Given the description of an element on the screen output the (x, y) to click on. 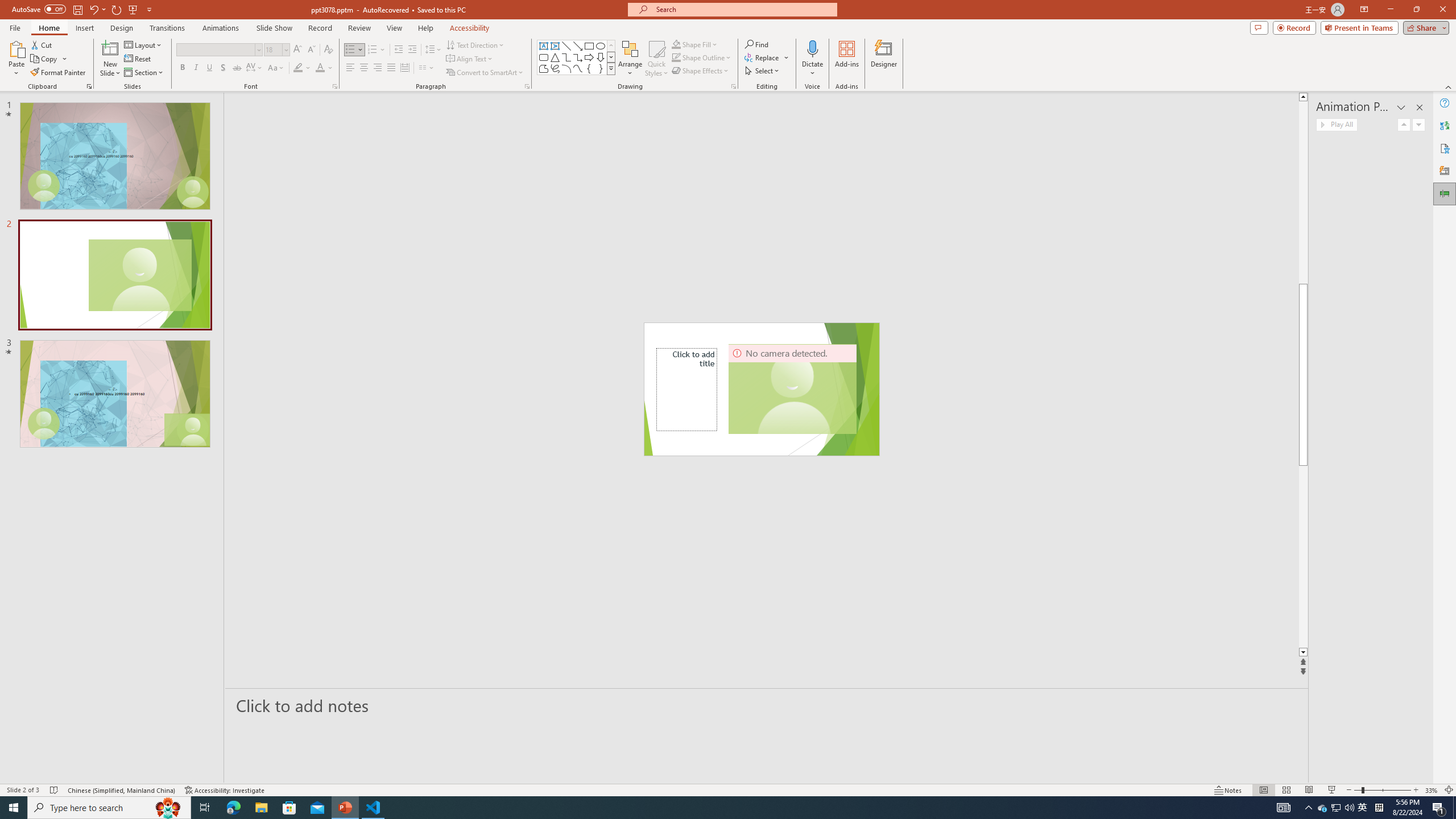
Font Size (273, 49)
Slide (114, 393)
Align Left (349, 67)
New Slide (110, 48)
Line Arrow (577, 45)
Font Color Red (320, 67)
Camera 3, No camera detected. (792, 388)
Present in Teams (1359, 27)
Dictate (812, 48)
File Tab (15, 27)
Replace... (767, 56)
Animations (220, 28)
